Given the description of an element on the screen output the (x, y) to click on. 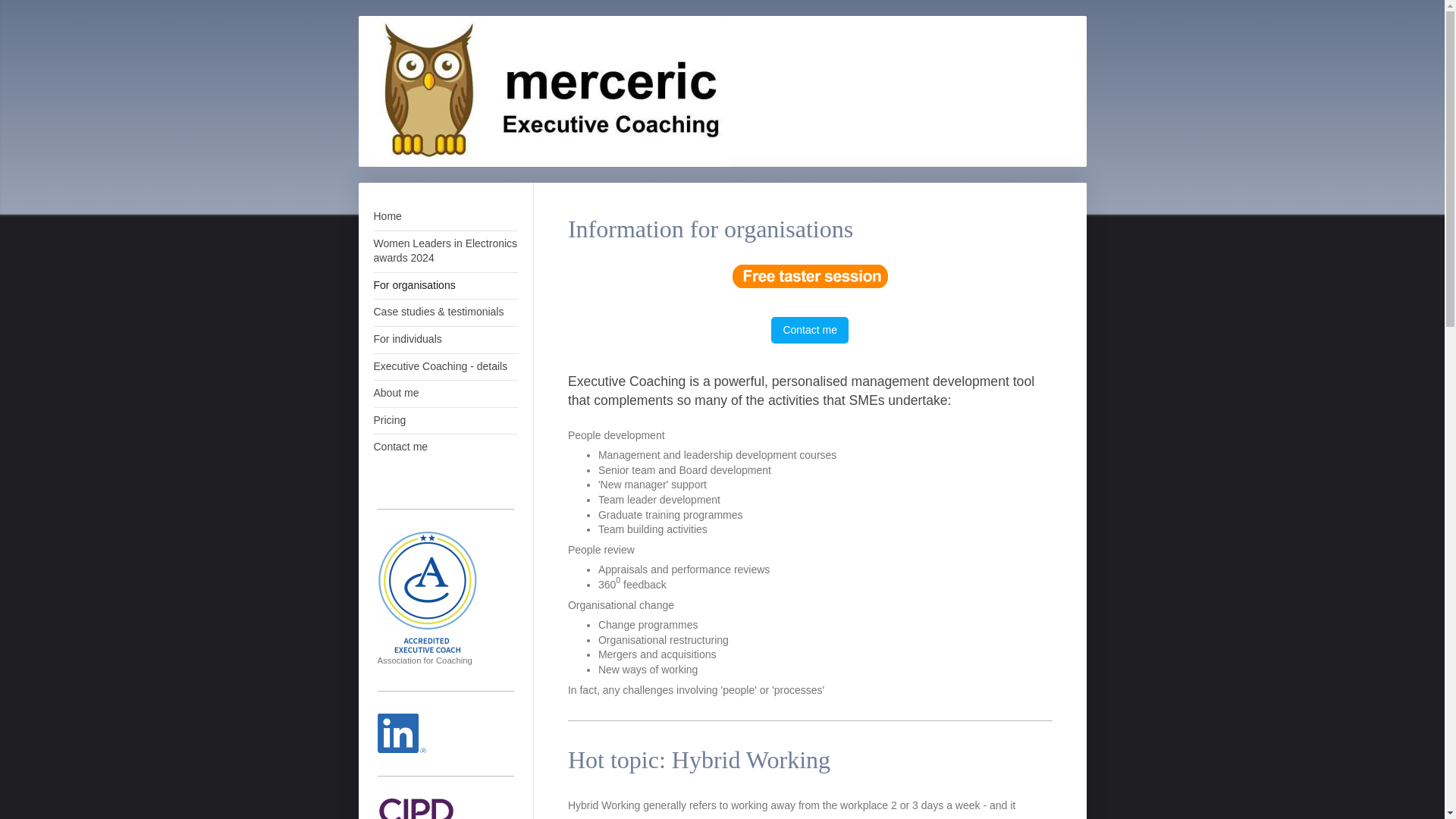
Women Leaders in Electronics awards 2024 (444, 251)
Contact me (809, 329)
Home (444, 216)
Executive Coaching - details (444, 366)
For organisations (444, 285)
Contact me (444, 447)
For individuals (444, 339)
Association for Coaching (427, 598)
Pricing (444, 420)
About me (444, 393)
